Given the description of an element on the screen output the (x, y) to click on. 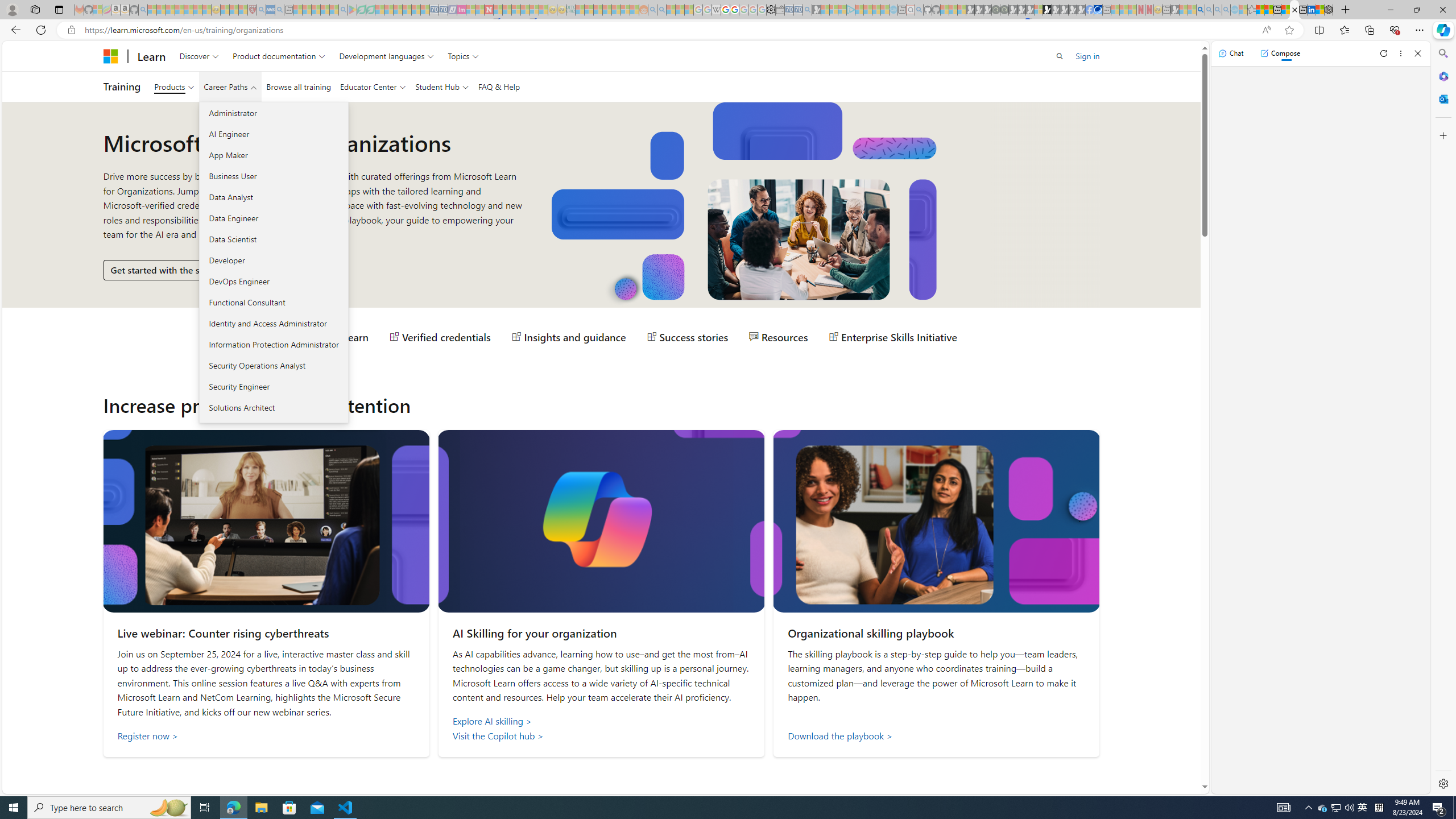
Plans on Microsoft Learn (304, 336)
Topics (462, 55)
Aberdeen, Hong Kong SAR weather forecast | Microsoft Weather (1268, 9)
Data Engineer (273, 217)
Verified credentials (440, 336)
AI Engineer (273, 133)
DevOps Engineer (273, 281)
Functional Consultant (273, 301)
